Given the description of an element on the screen output the (x, y) to click on. 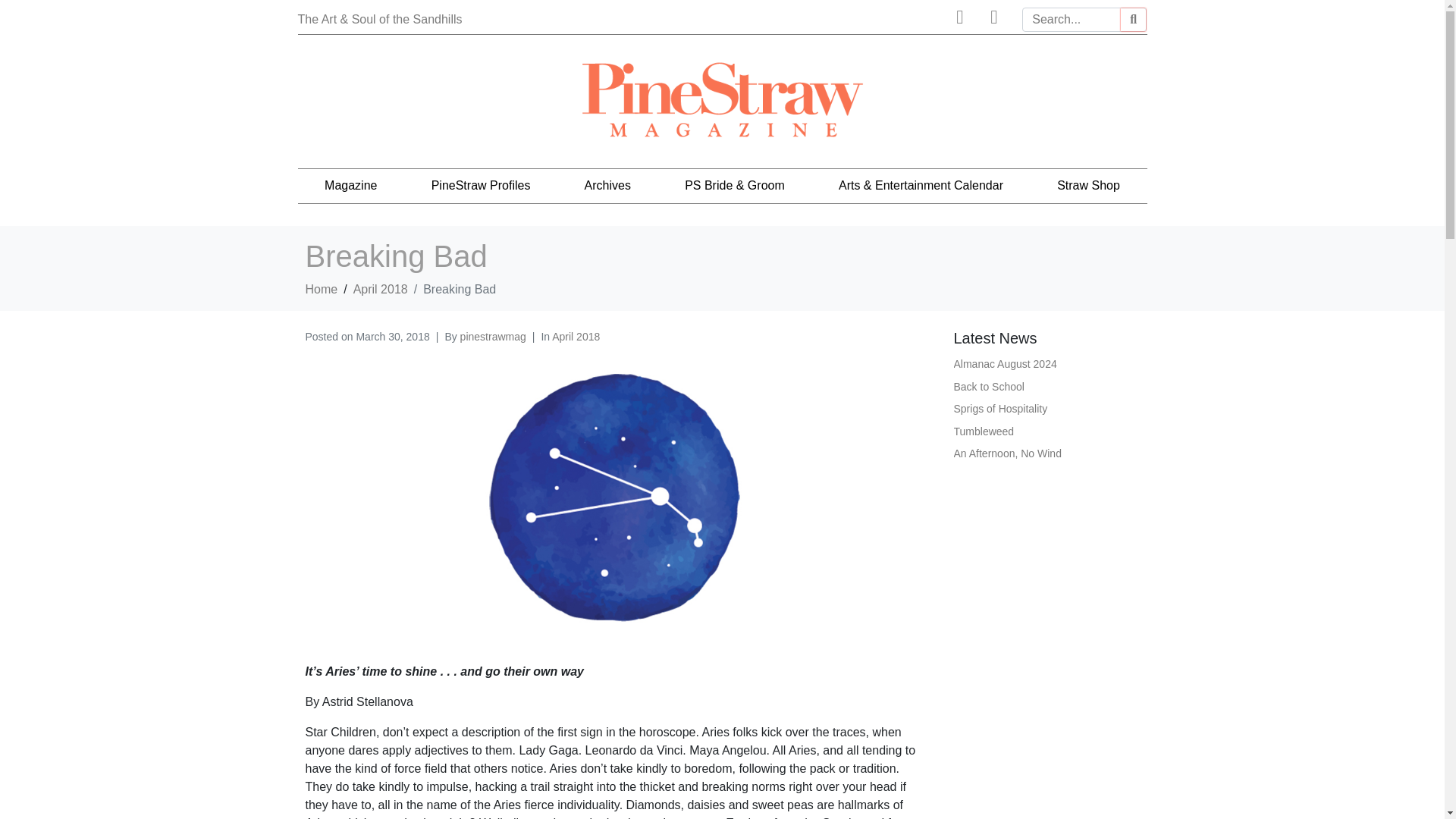
April 2018 (380, 288)
Straw Shop (1088, 185)
Magazine (350, 185)
Archives (607, 185)
Home (320, 288)
April 2018 (575, 336)
Magazine (350, 185)
PineStraw Profiles (480, 185)
pinestrawmag (492, 336)
